Given the description of an element on the screen output the (x, y) to click on. 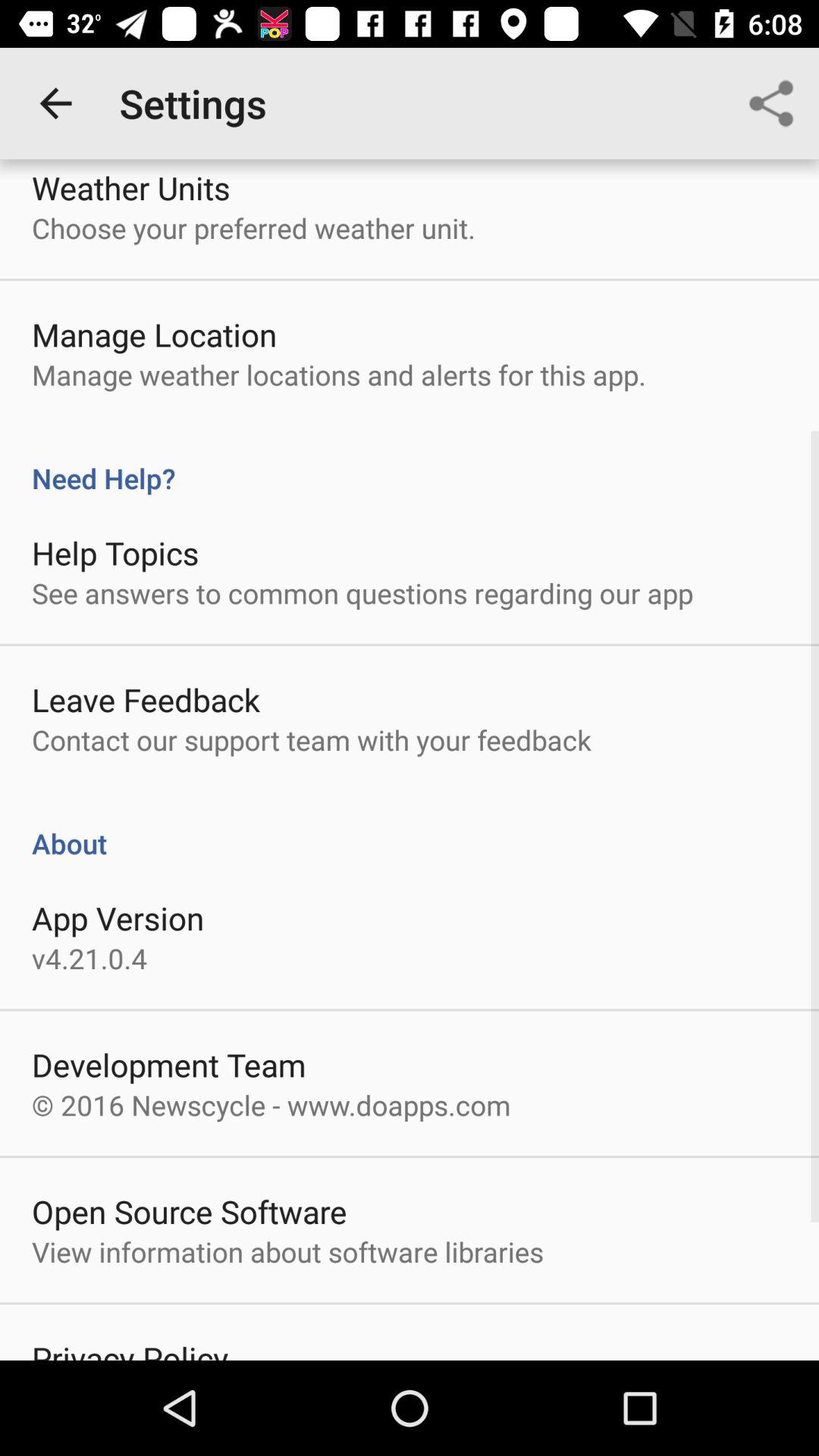
turn off item above the v4 21 0 (117, 917)
